Given the description of an element on the screen output the (x, y) to click on. 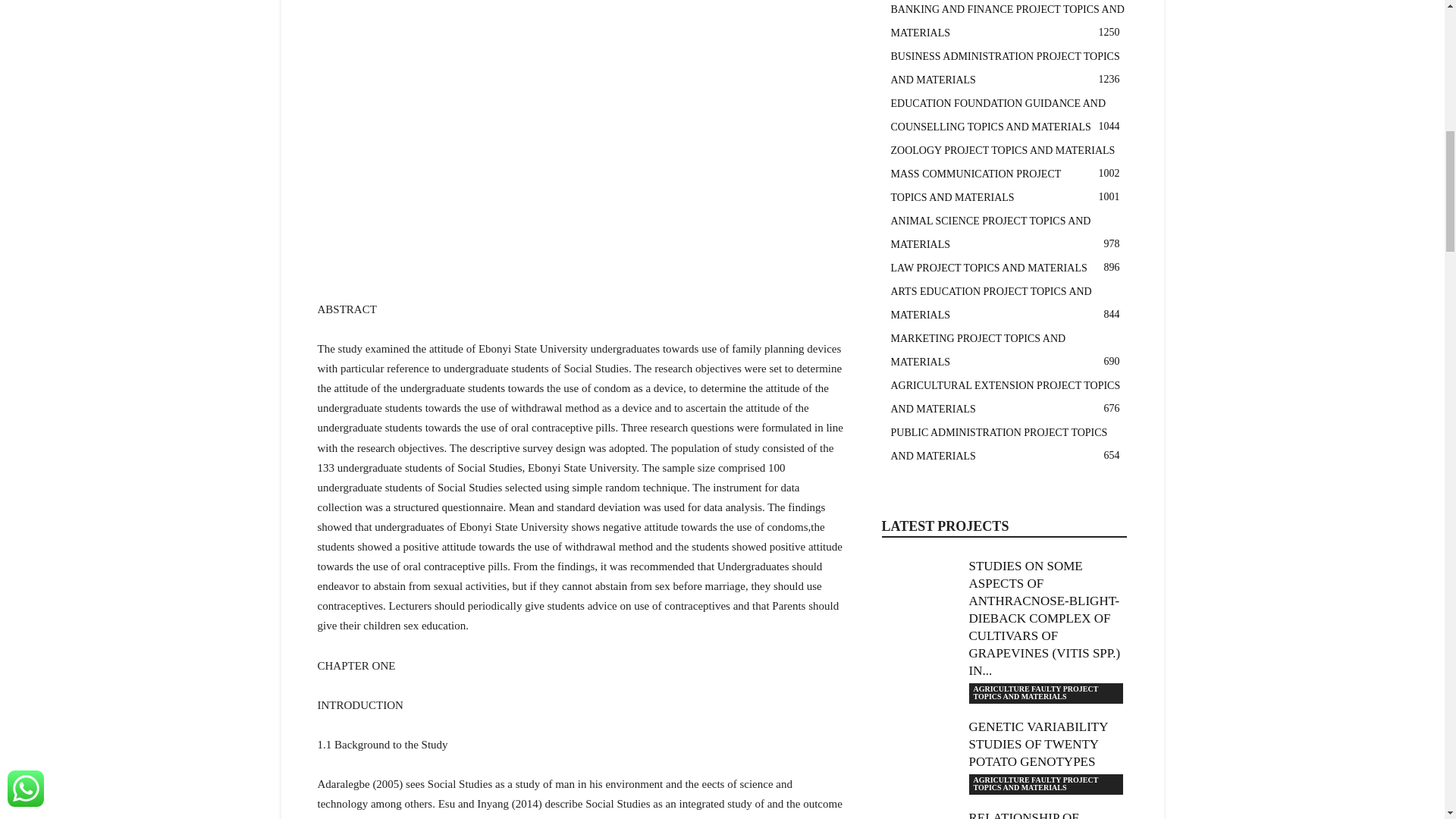
Advertisement (580, 29)
Advertisement (580, 179)
